Given the description of an element on the screen output the (x, y) to click on. 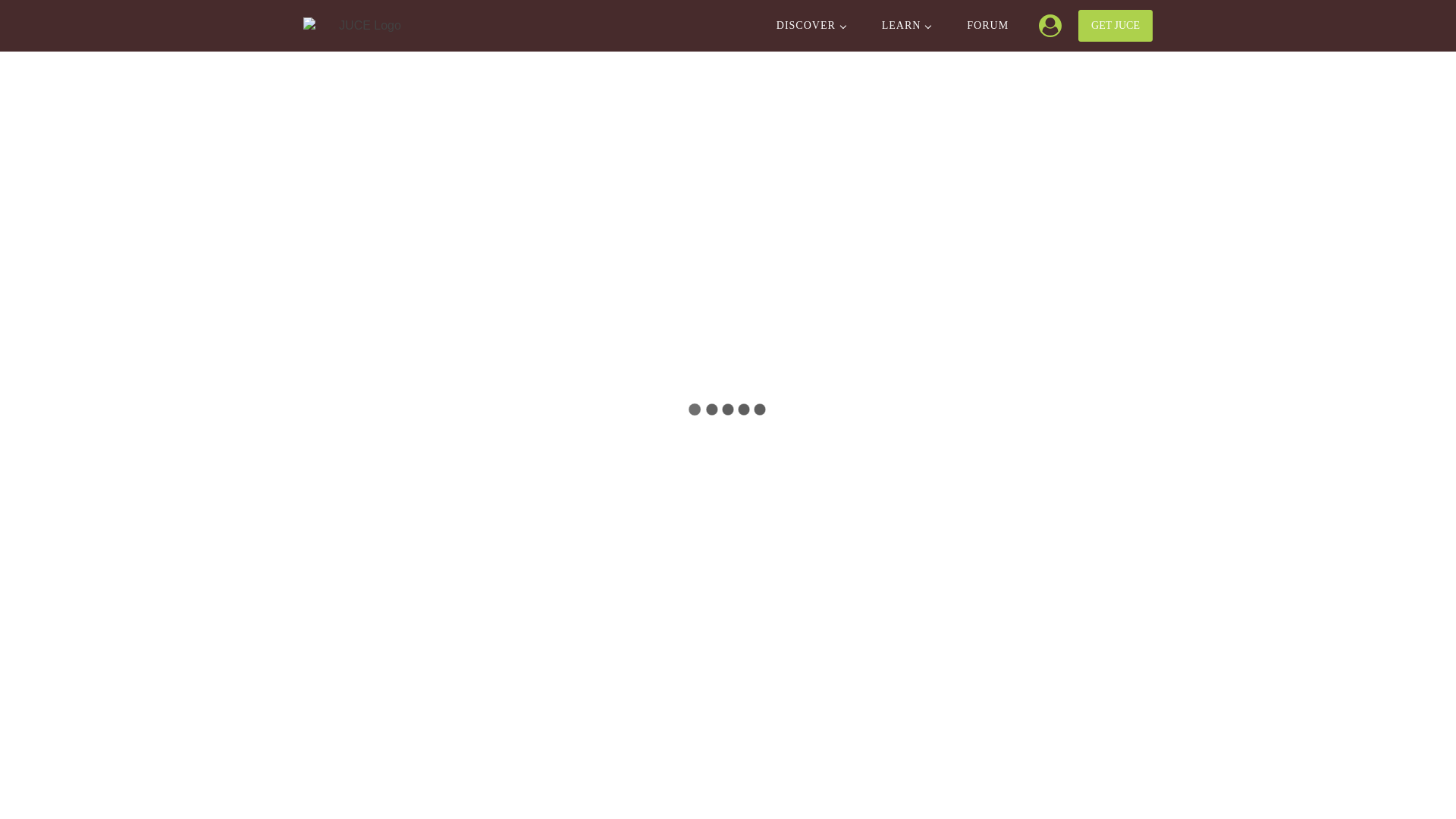
LEARN (906, 25)
DISCOVER (810, 25)
FORUM (987, 25)
GET JUCE (1115, 25)
